Given the description of an element on the screen output the (x, y) to click on. 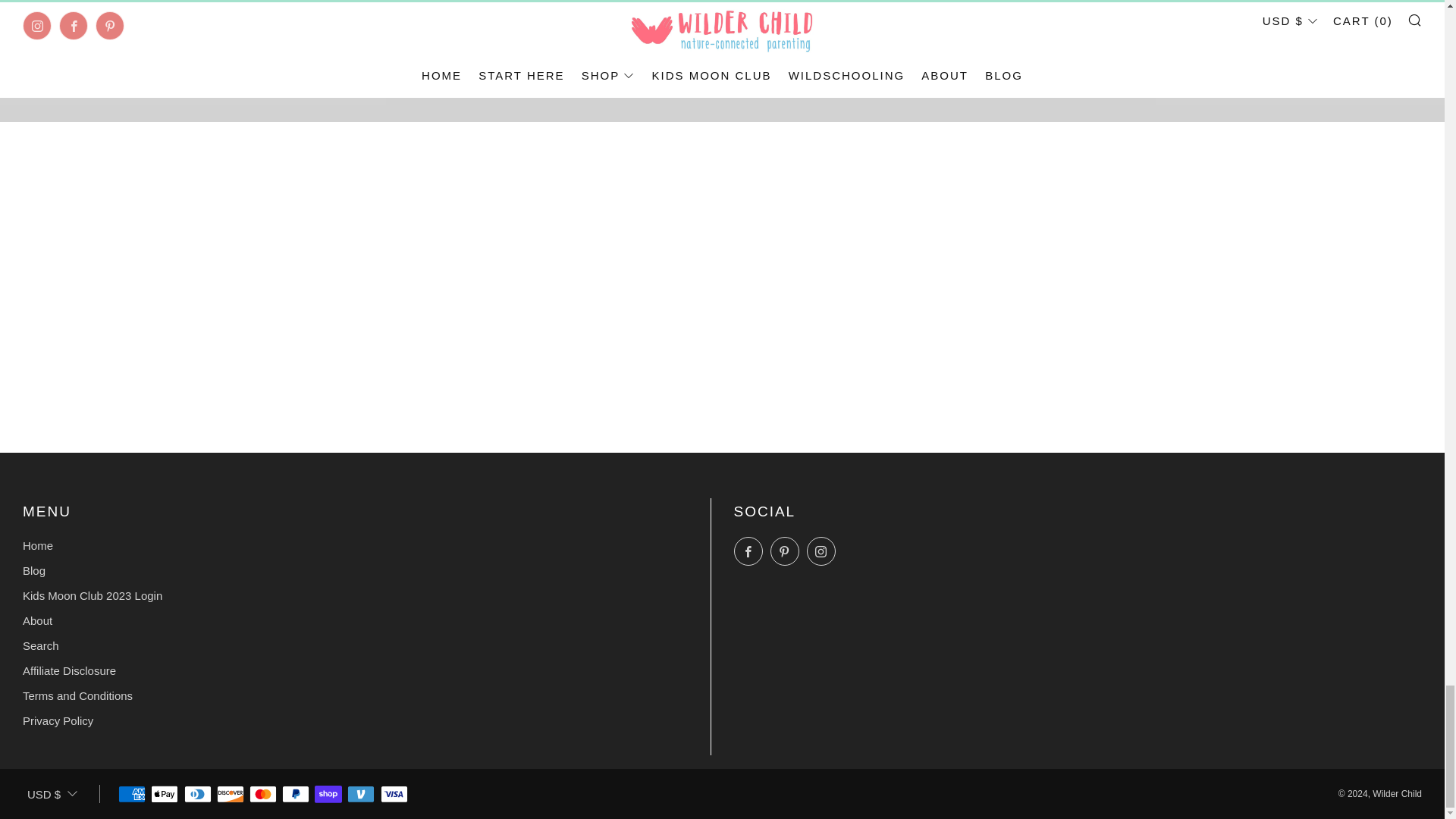
Post comment (722, 72)
